Given the description of an element on the screen output the (x, y) to click on. 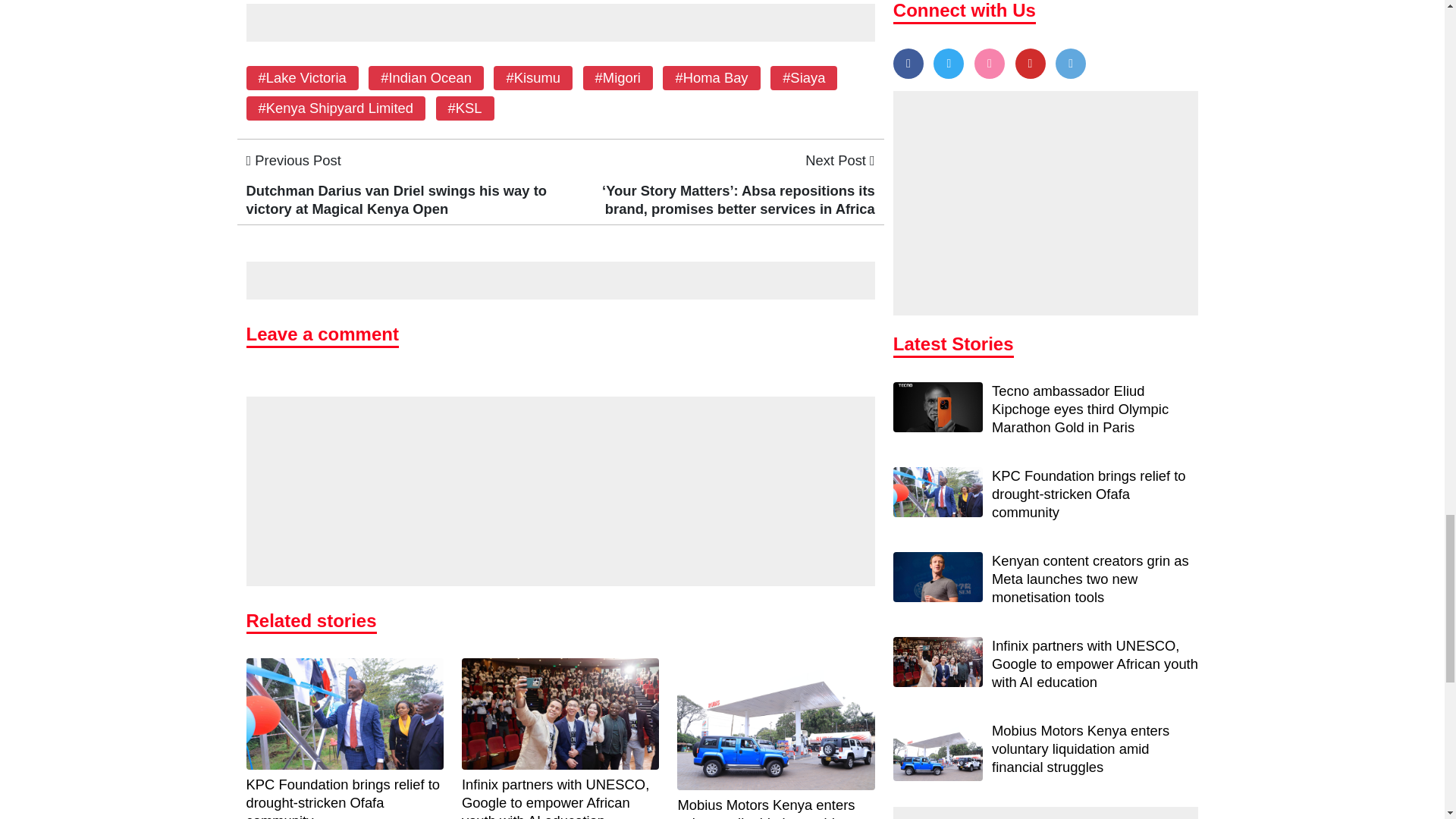
Topic: Kisumu (532, 77)
Topic: Indian Ocean (425, 77)
Topic: Migori (617, 77)
Topic: Lake Victoria (301, 77)
